Given the description of an element on the screen output the (x, y) to click on. 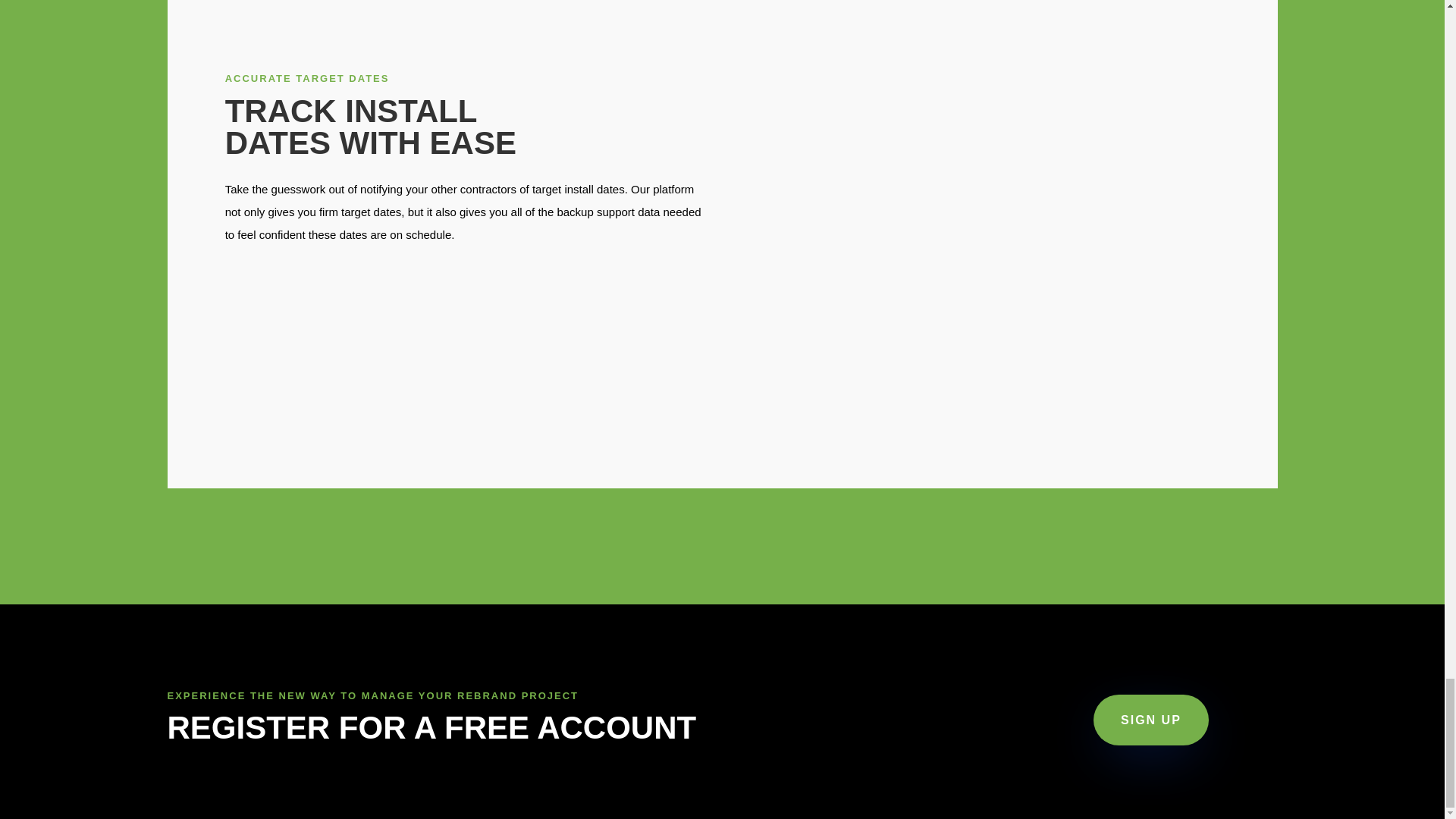
SIGN UP (1150, 719)
